Given the description of an element on the screen output the (x, y) to click on. 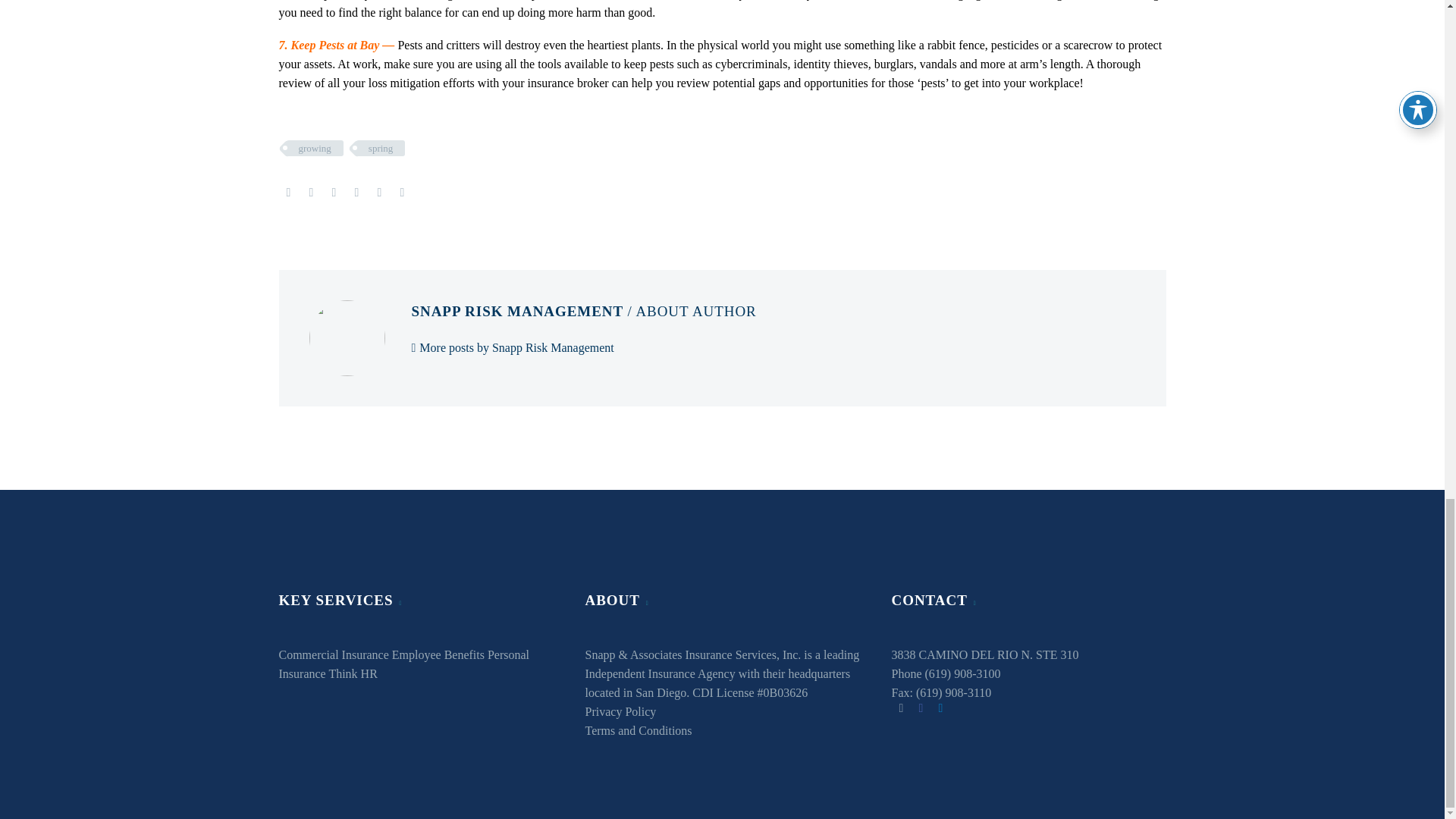
Facebook (288, 192)
Tumblr (356, 192)
Pinterest (333, 192)
Twitter (310, 192)
linkedin (940, 707)
LinkedIn (378, 192)
facebook (920, 707)
twitter (901, 707)
Reddit (401, 192)
